Given the description of an element on the screen output the (x, y) to click on. 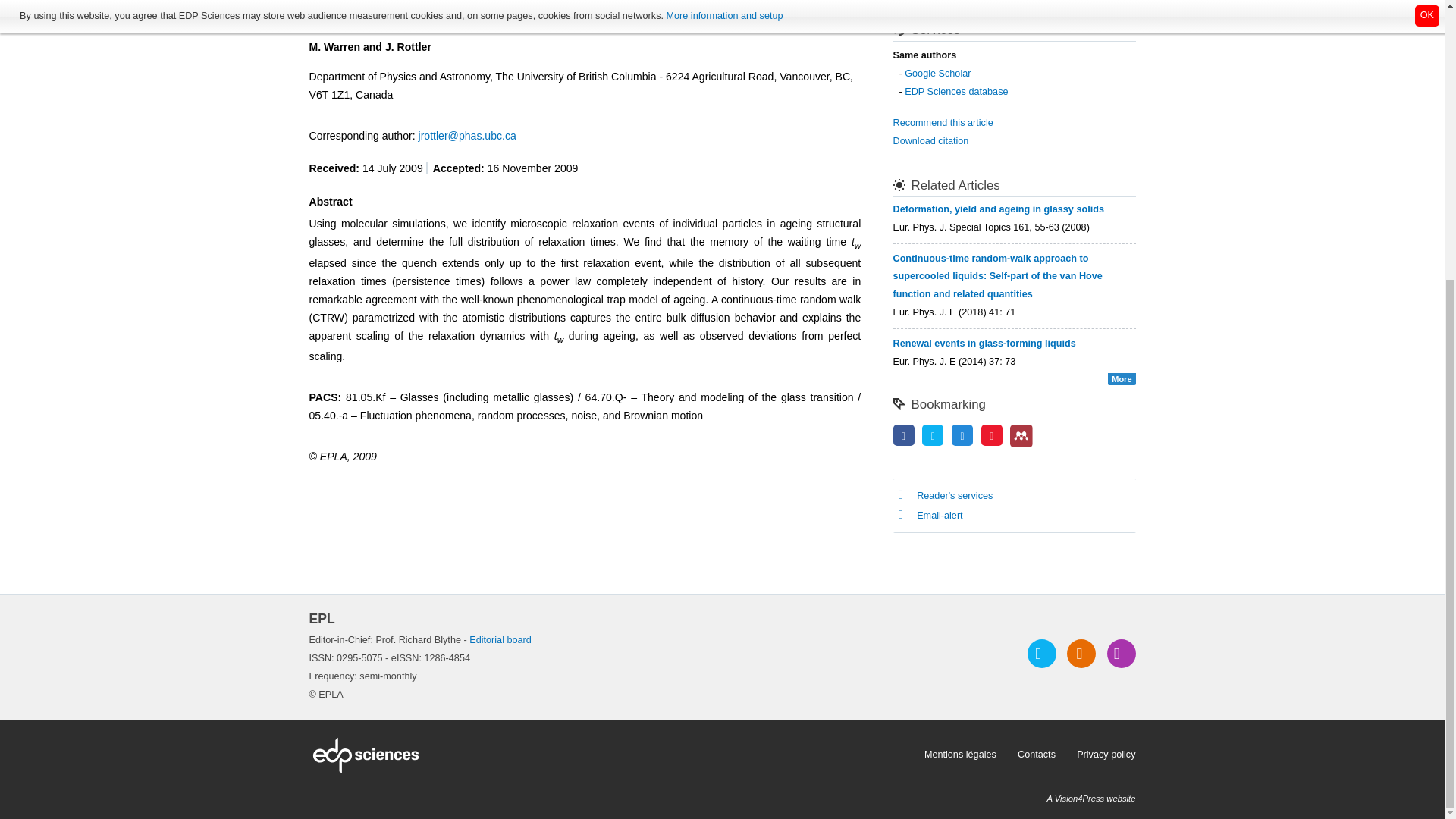
Follow us on Twitter (1042, 653)
Add this article to your Mendeley library (1021, 443)
Register to the journal email alert (1120, 653)
Share on Facebook (903, 436)
EDP Sciences website (611, 754)
Share on Twitter (932, 436)
Mendeley (1021, 436)
Share on LinkedIn (962, 436)
Access our RSS feeds (1081, 653)
Share on Sina Weibo (992, 436)
